Given the description of an element on the screen output the (x, y) to click on. 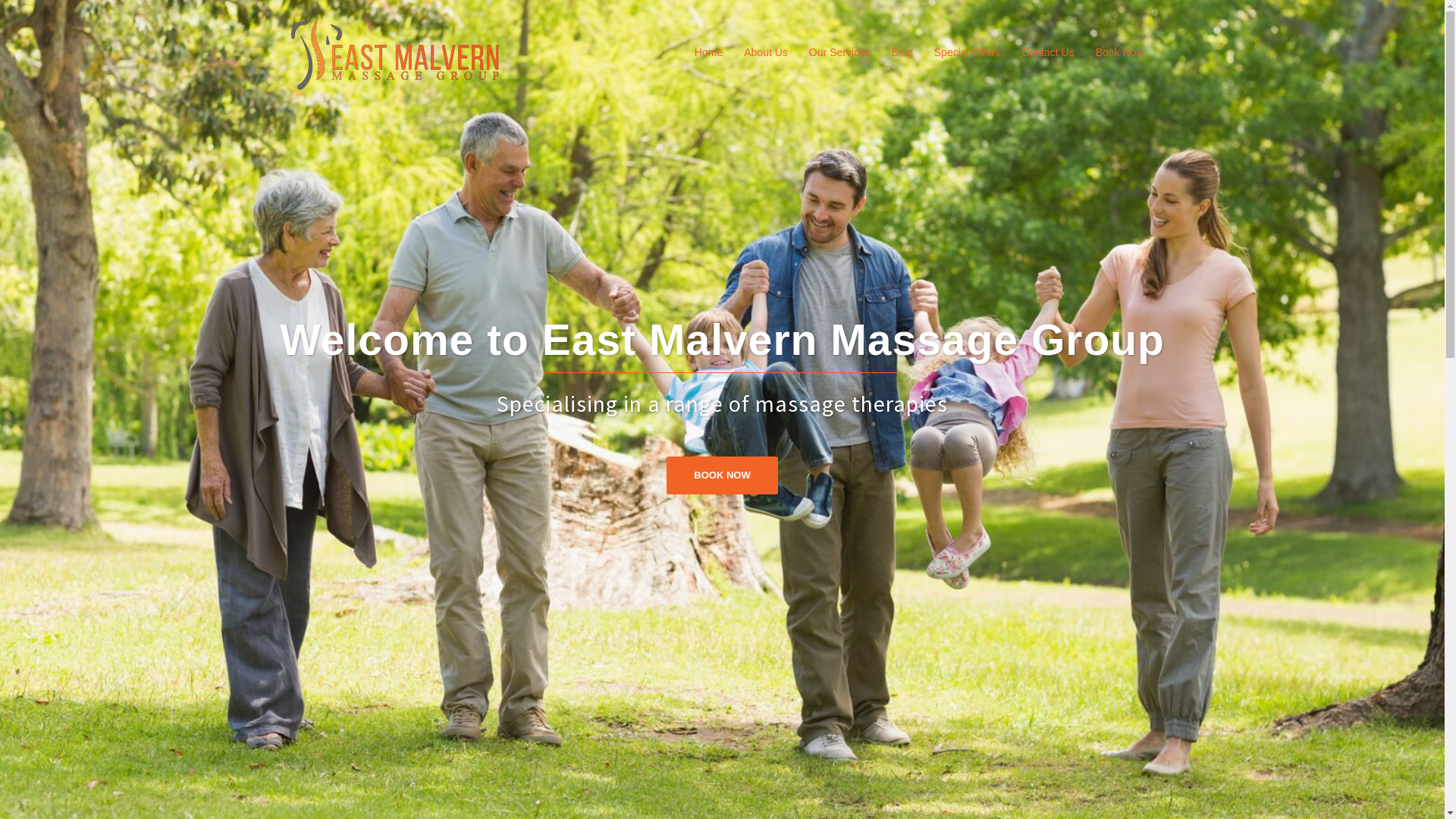
Contact Us Element type: text (1047, 52)
East Malvern Massage Group Element type: hover (393, 51)
Blog Element type: text (902, 52)
Book Now Element type: text (1119, 52)
BOOK NOW Element type: text (721, 475)
Our Services Element type: text (839, 52)
Home Element type: text (708, 52)
Special Offers Element type: text (967, 52)
About Us Element type: text (765, 52)
